Given the description of an element on the screen output the (x, y) to click on. 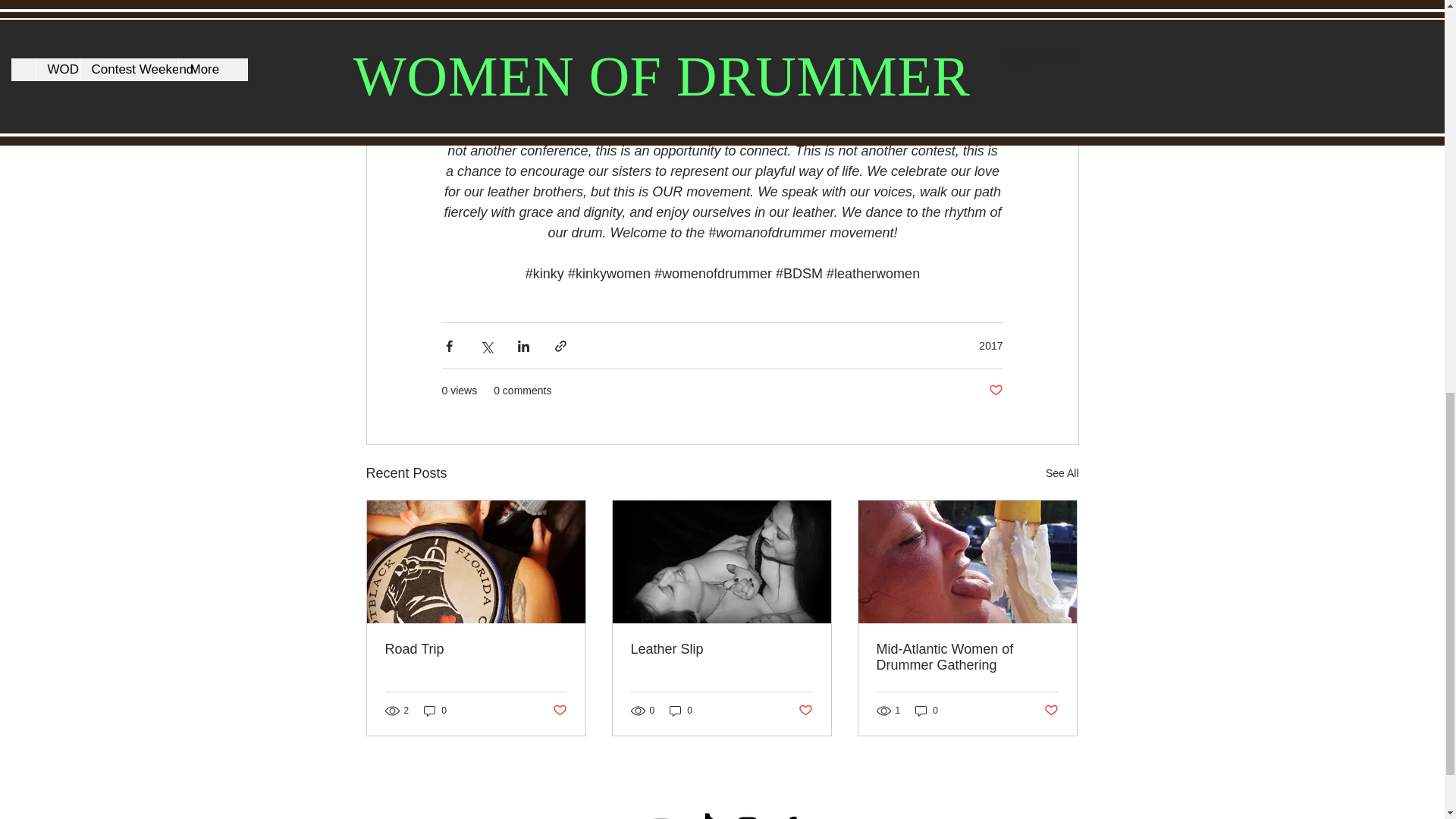
Post not marked as liked (558, 709)
0 (681, 710)
Road Trip (476, 649)
2017 (990, 345)
See All (1061, 473)
0 (435, 710)
Post not marked as liked (995, 390)
Mid-Atlantic Women of Drummer Gathering (967, 657)
Post not marked as liked (804, 709)
Leather Slip (721, 649)
